Given the description of an element on the screen output the (x, y) to click on. 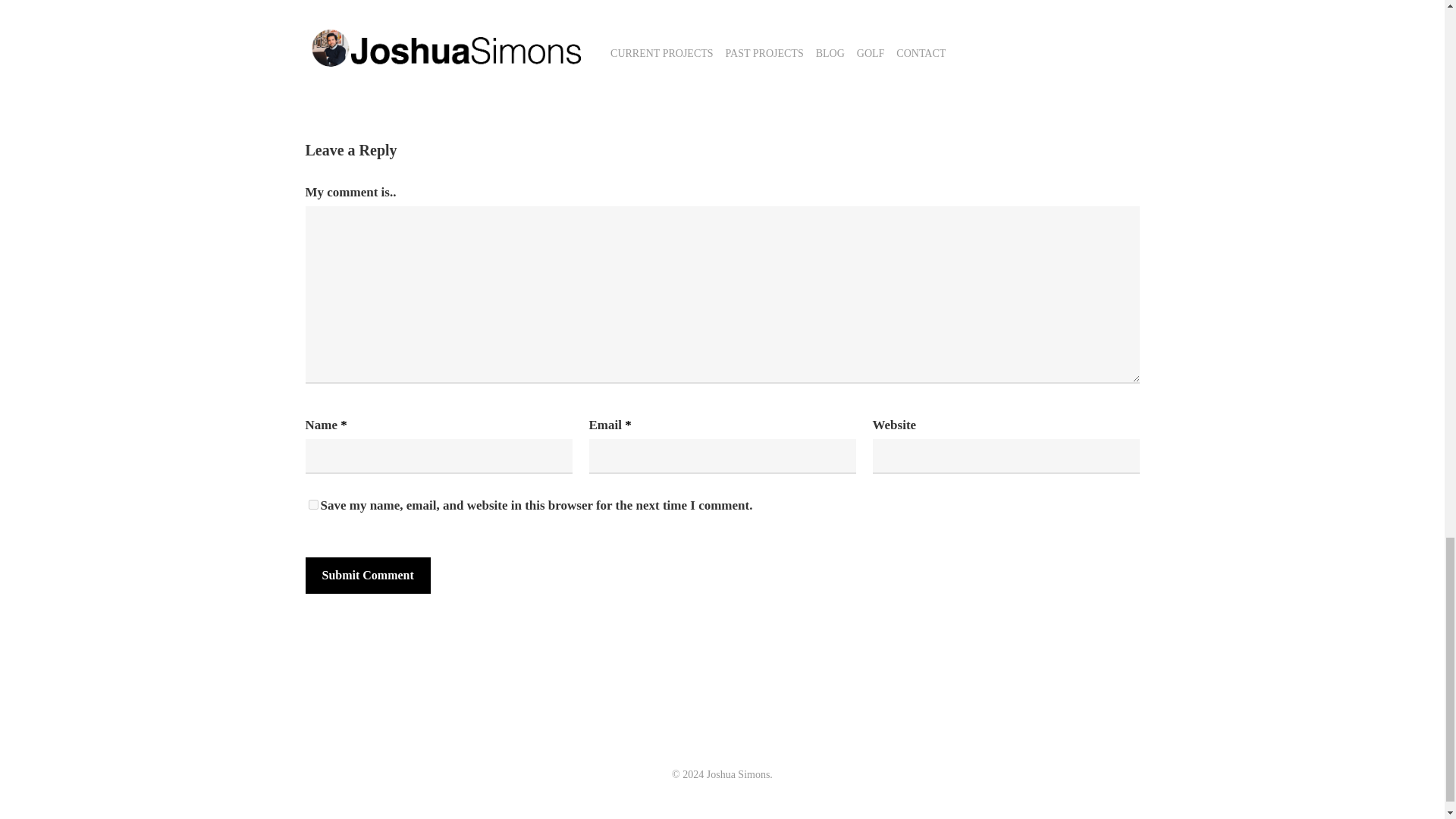
Submit Comment (366, 575)
Submit Comment (366, 575)
yes (312, 503)
